Given the description of an element on the screen output the (x, y) to click on. 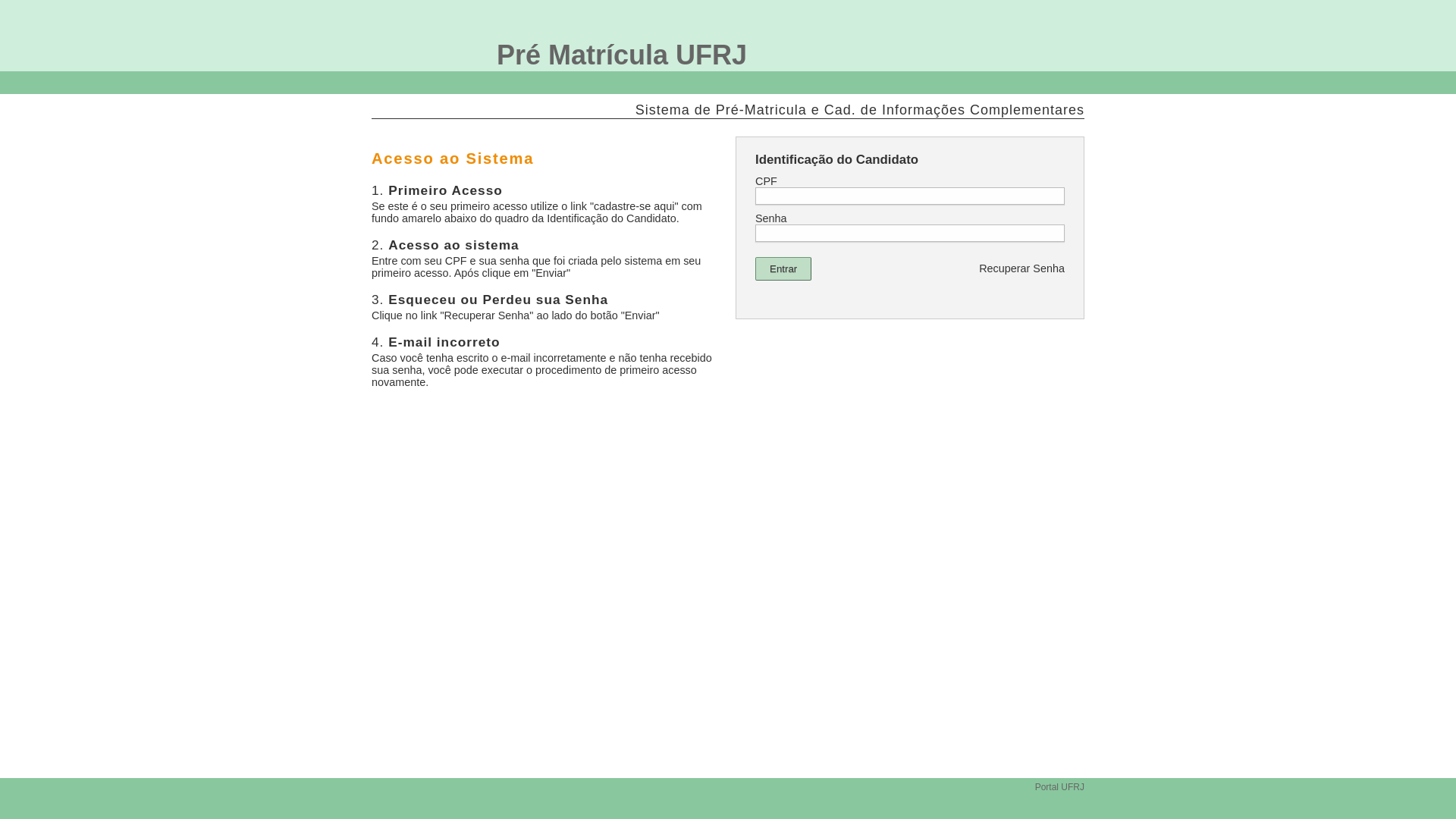
Senha Element type: hover (909, 232)
Entrar Element type: text (783, 268)
Recuperar Senha Element type: text (1021, 268)
CPF Element type: hover (909, 195)
